Given the description of an element on the screen output the (x, y) to click on. 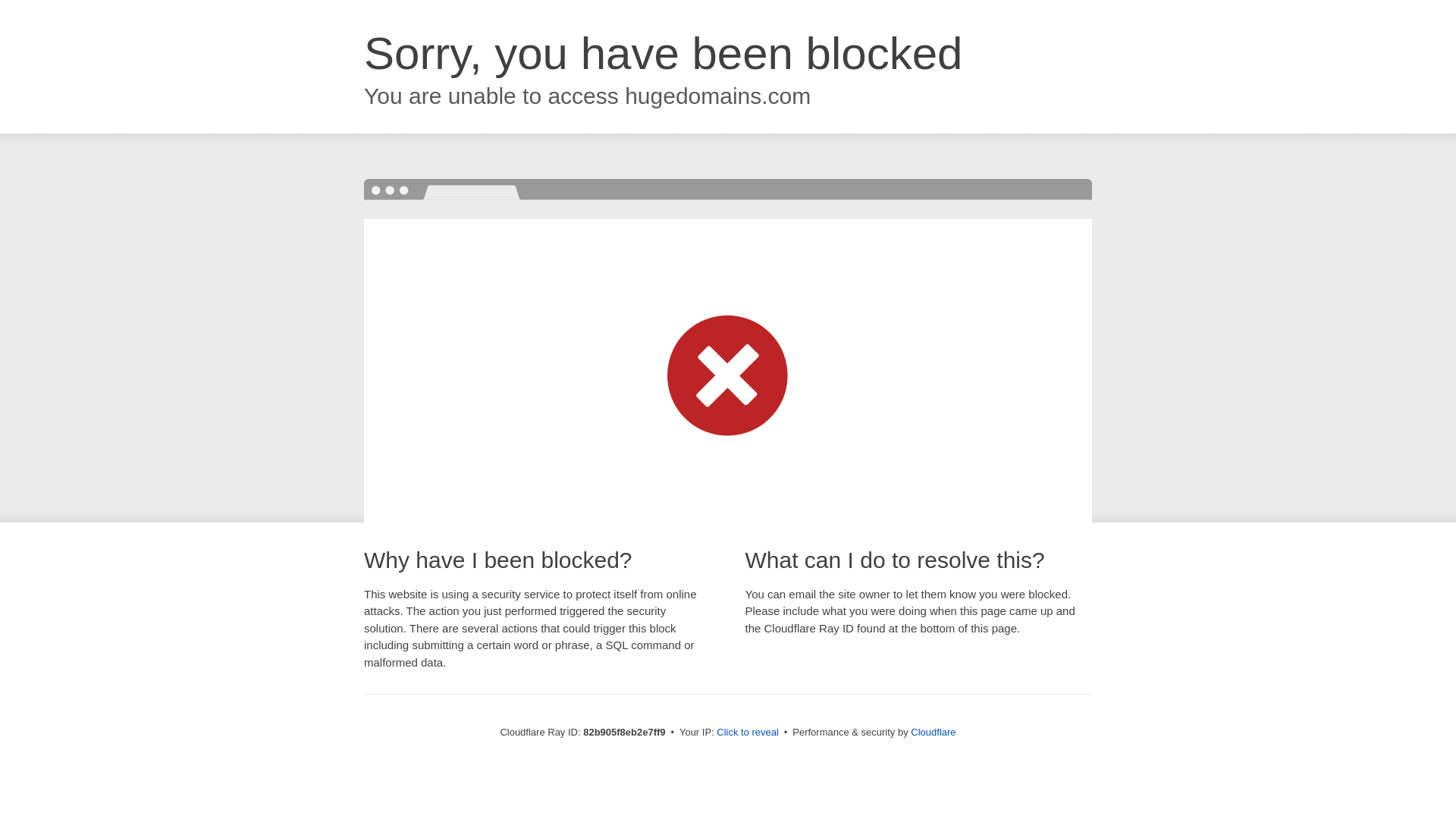
Cloudflare Element type: text (932, 731)
Click to reveal Element type: text (747, 732)
